Given the description of an element on the screen output the (x, y) to click on. 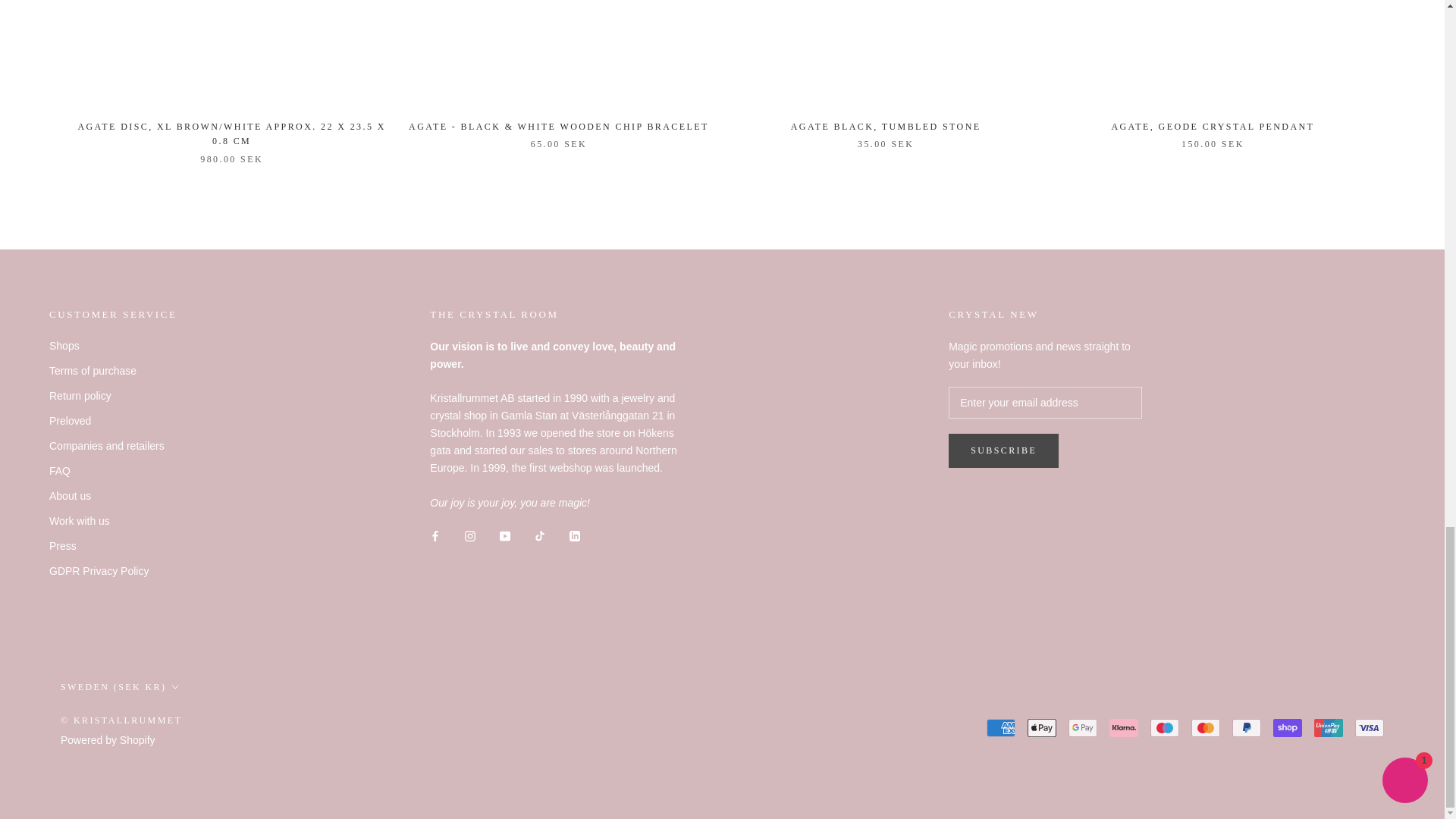
American Express (1000, 728)
Apple Pay (1042, 728)
Google Pay (1082, 728)
